Given the description of an element on the screen output the (x, y) to click on. 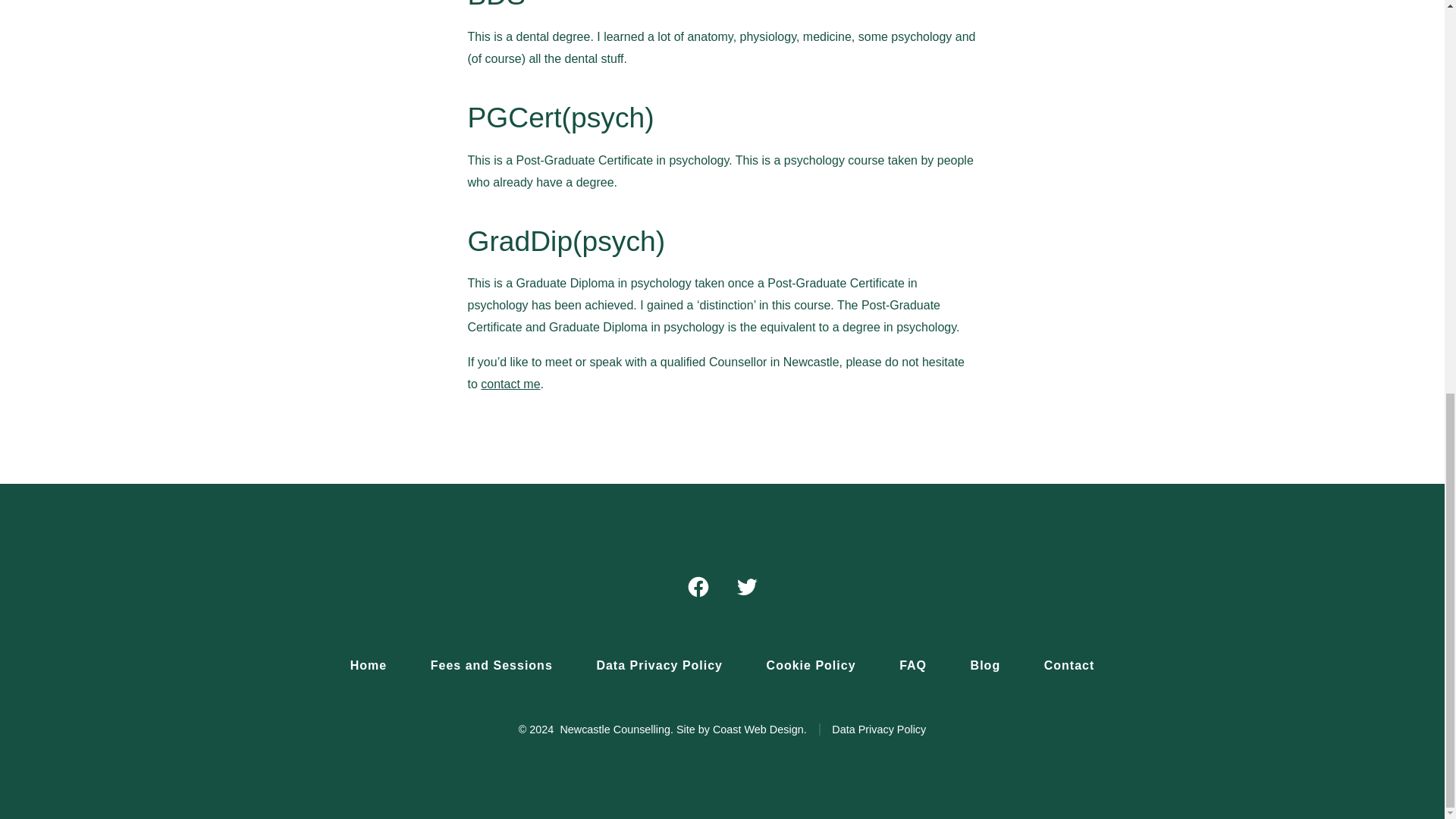
Cookie Policy (810, 665)
Newcastle Counselling (369, 665)
contact me (510, 383)
Data Privacy Policy (872, 729)
Home (369, 665)
Open Twitter in a new tab (746, 586)
Data Privacy Policy (659, 665)
Coast Web Design (758, 729)
Open Facebook in a new tab (697, 586)
Blog (985, 665)
